Given the description of an element on the screen output the (x, y) to click on. 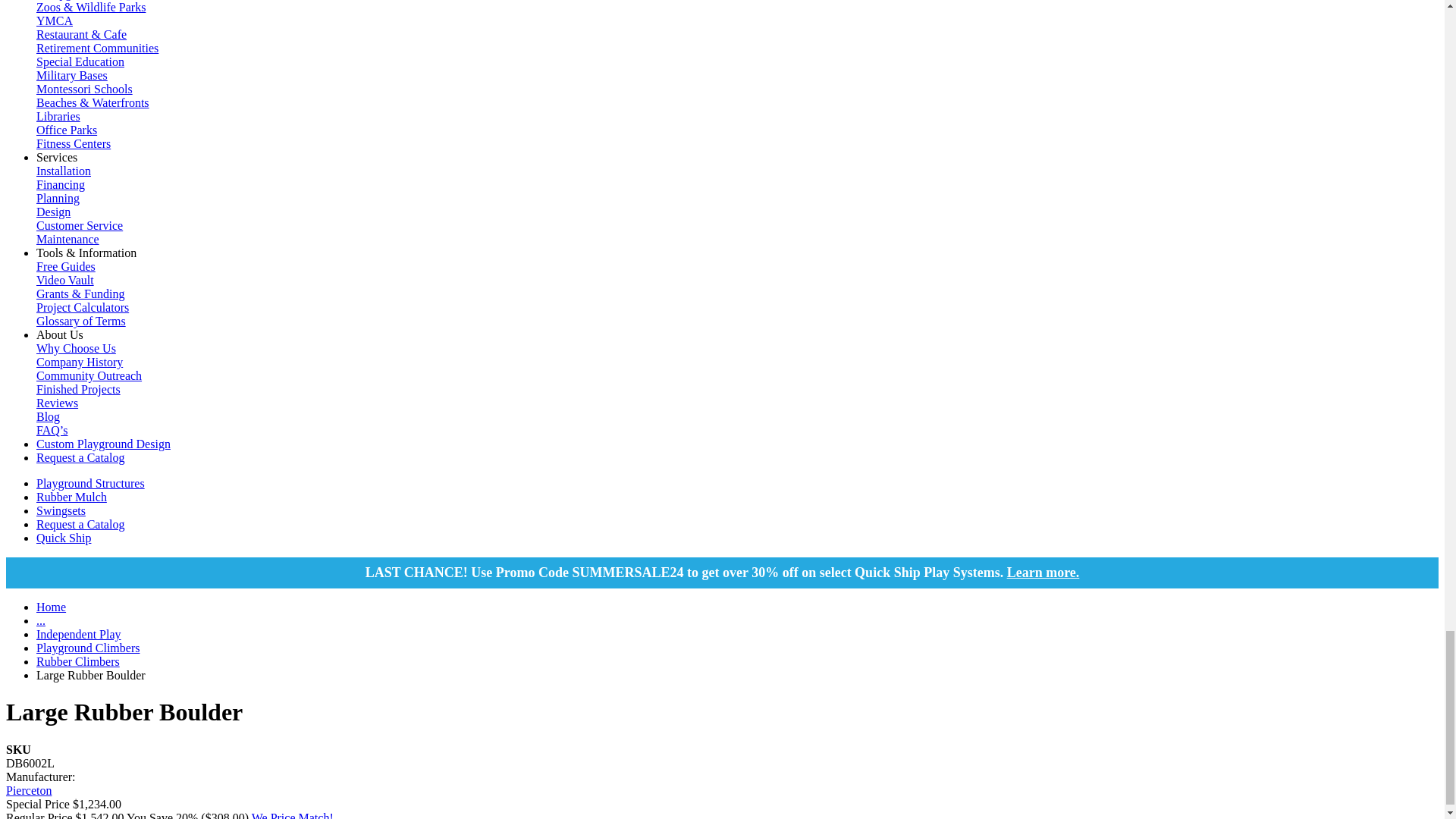
view all Pierceton products (27, 789)
